Given the description of an element on the screen output the (x, y) to click on. 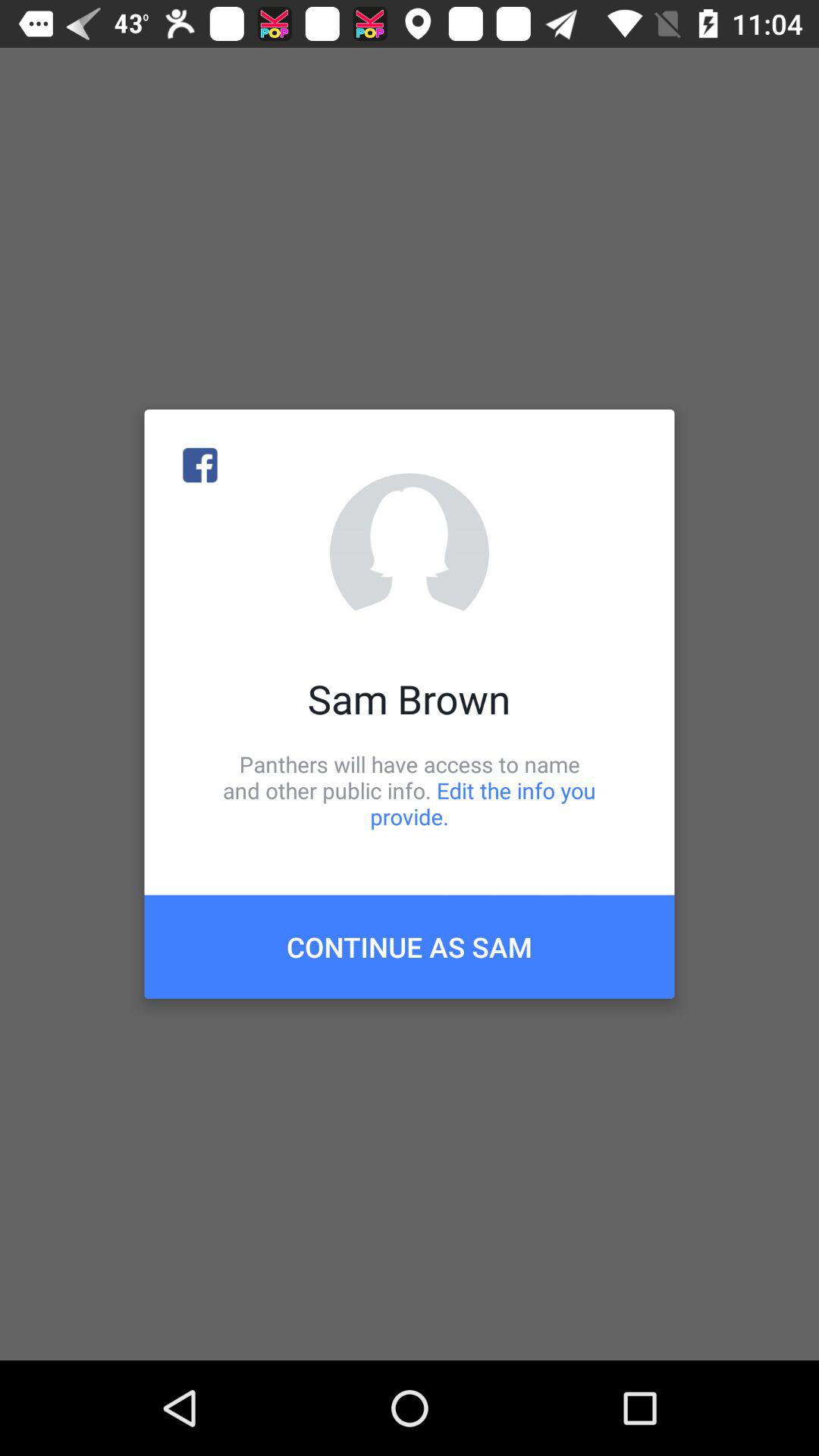
choose the continue as sam icon (409, 946)
